Given the description of an element on the screen output the (x, y) to click on. 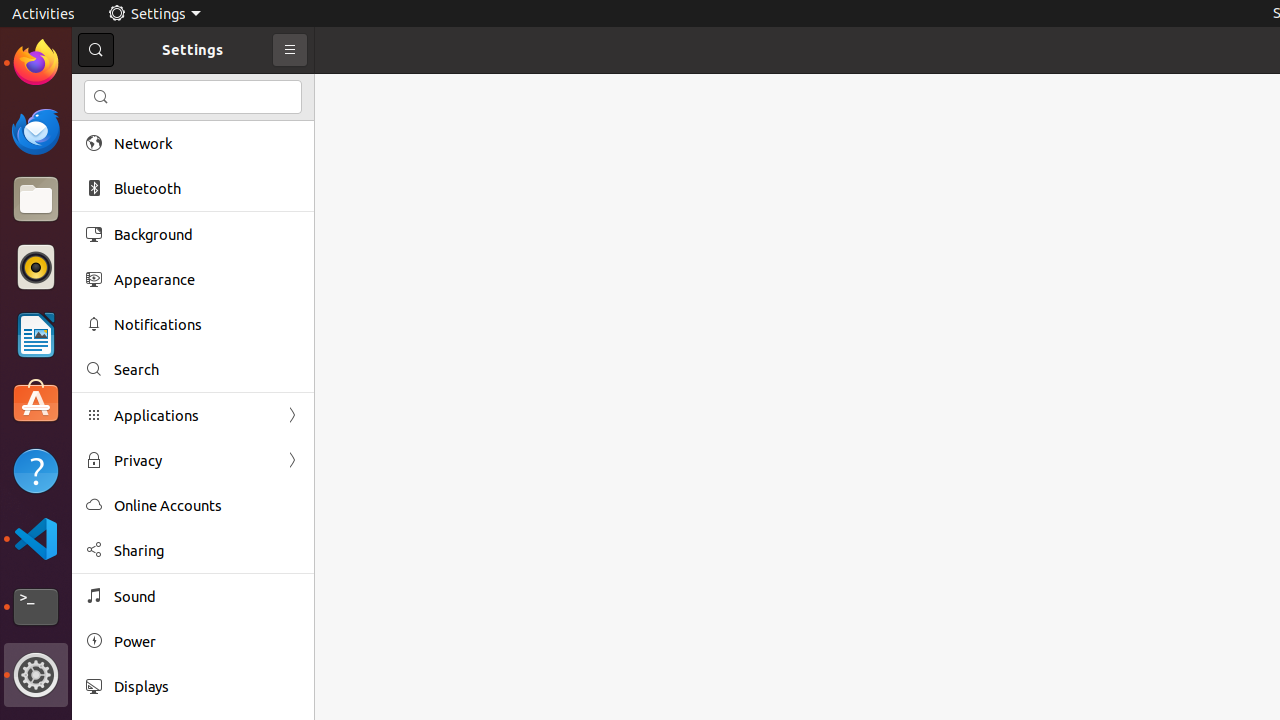
Primary Menu Element type: toggle-button (290, 50)
Search Element type: label (207, 369)
Power Element type: label (207, 641)
Bluetooth Element type: label (207, 188)
Displays Element type: label (207, 686)
